Given the description of an element on the screen output the (x, y) to click on. 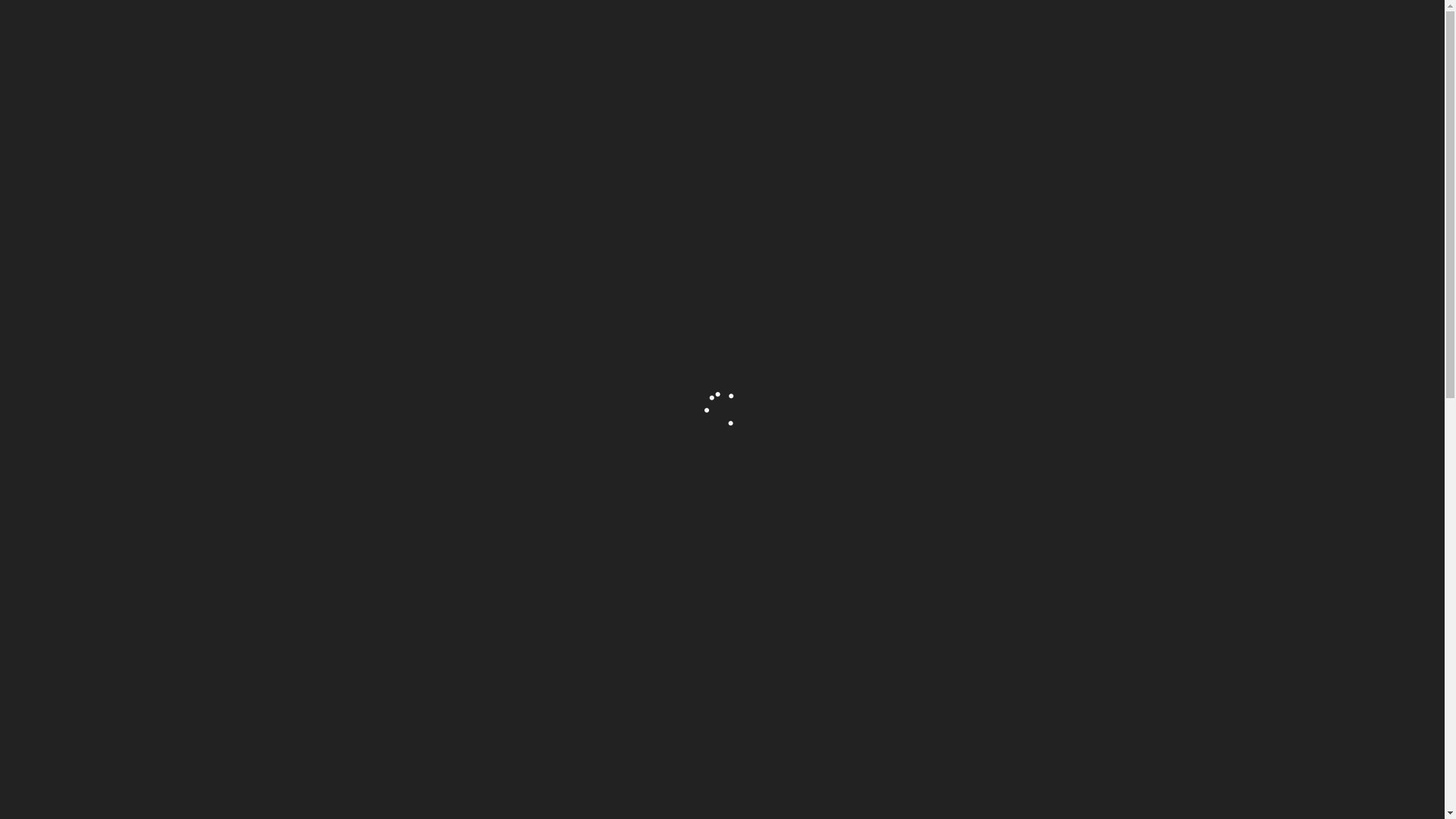
DRIVE YOUR TEAM Element type: text (788, 177)
TEAMBUILDING & EVENTS Element type: text (881, 41)
klanten Element type: text (802, 432)
DRIVE YOUR DREAM Element type: text (659, 177)
www.co2logic.com Element type: text (407, 525)
MEMBERS Element type: text (975, 41)
GALLERY Element type: text (1077, 41)
CONTACT Element type: text (1135, 41)
WELCOME Element type: text (719, 41)
CARS Element type: text (1028, 41)
OUR STORY Element type: text (784, 41)
leden Element type: text (755, 432)
